Given the description of an element on the screen output the (x, y) to click on. 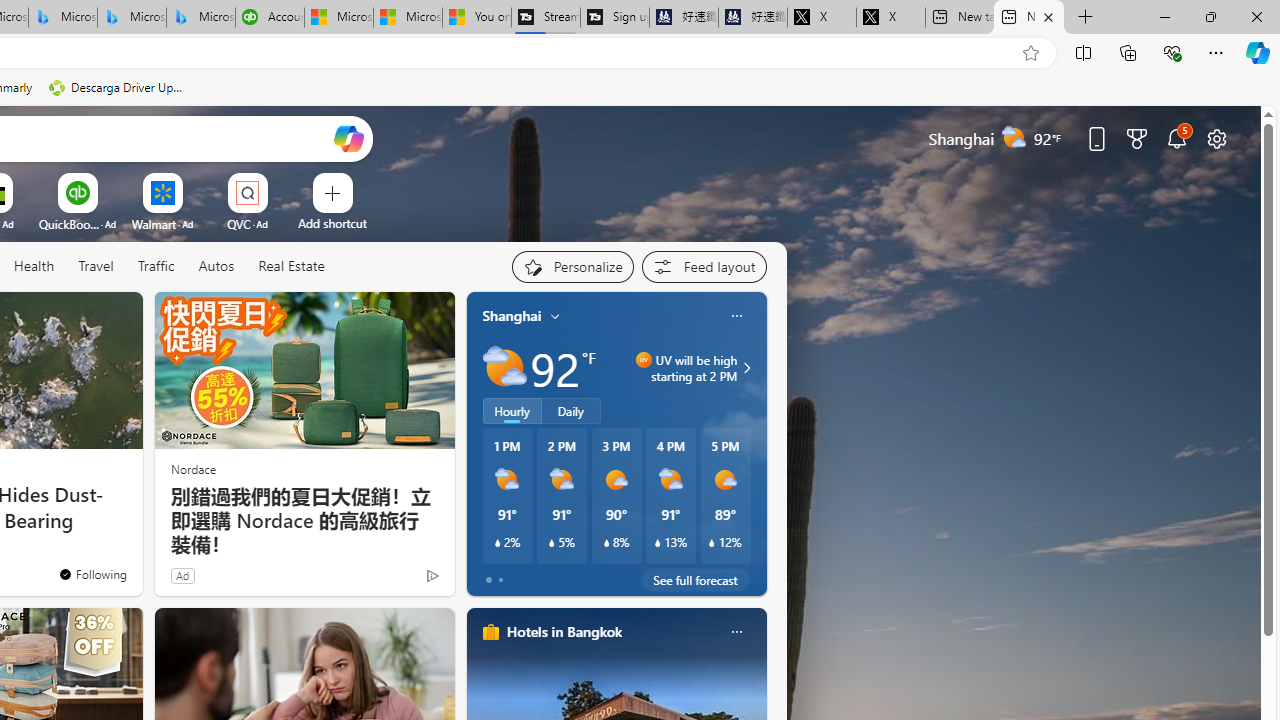
Class: weather-current-precipitation-glyph (712, 543)
Class: icon-img (736, 632)
Microsoft Bing Travel - Shangri-La Hotel Bangkok (200, 17)
hotels-header-icon (490, 632)
Class: weather-arrow-glyph (746, 367)
tab-0 (488, 579)
Hourly (511, 411)
Autos (215, 265)
New Tab (1085, 17)
